Given the description of an element on the screen output the (x, y) to click on. 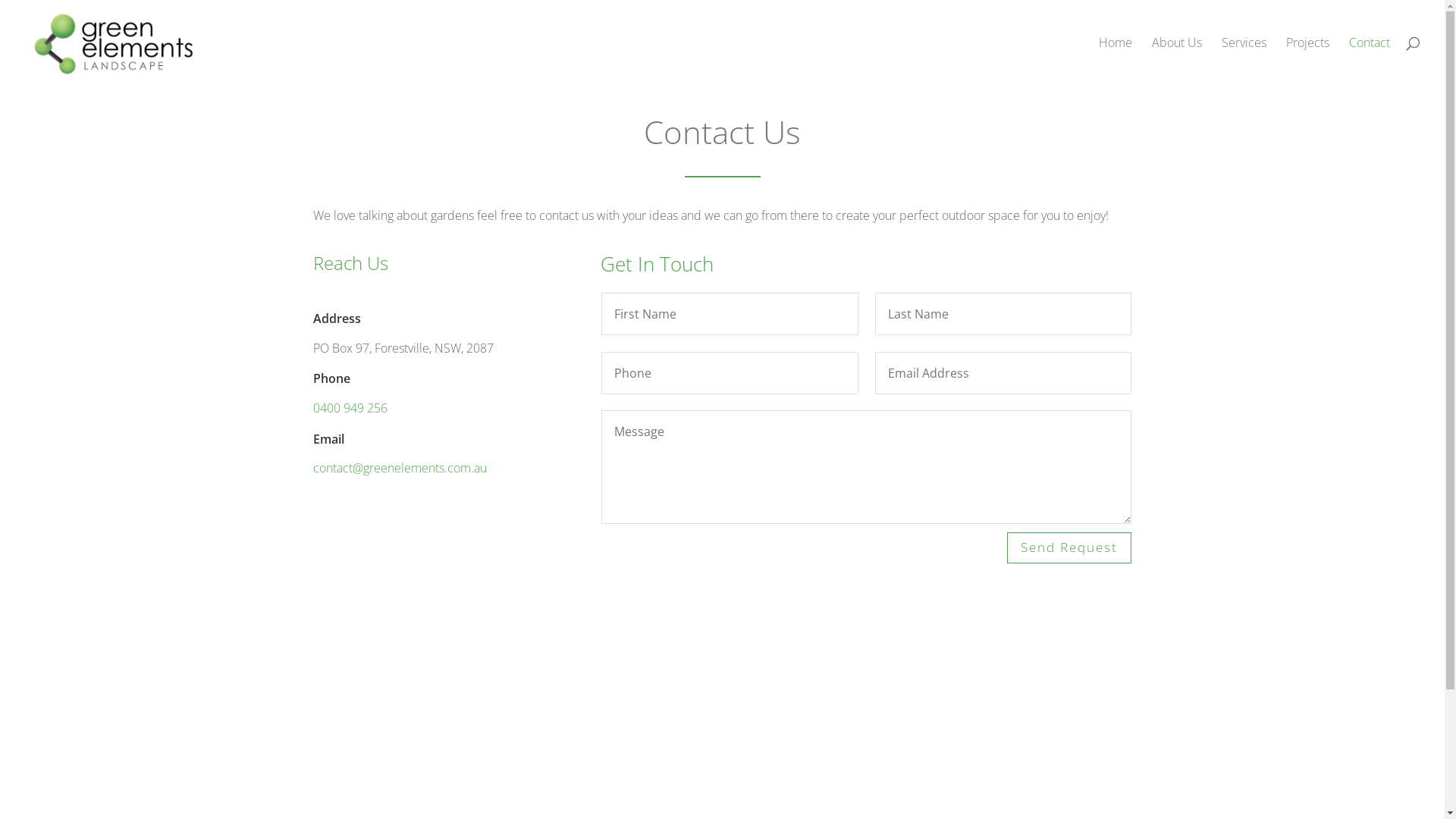
About Us Element type: text (1176, 60)
0400 949 256 Element type: text (349, 407)
Services Element type: text (1243, 60)
Projects Element type: text (1307, 60)
Contact Element type: text (1369, 60)
Home Element type: text (1115, 60)
Send Request Element type: text (1069, 547)
contact@greenelements.com.au Element type: text (399, 467)
